Given the description of an element on the screen output the (x, y) to click on. 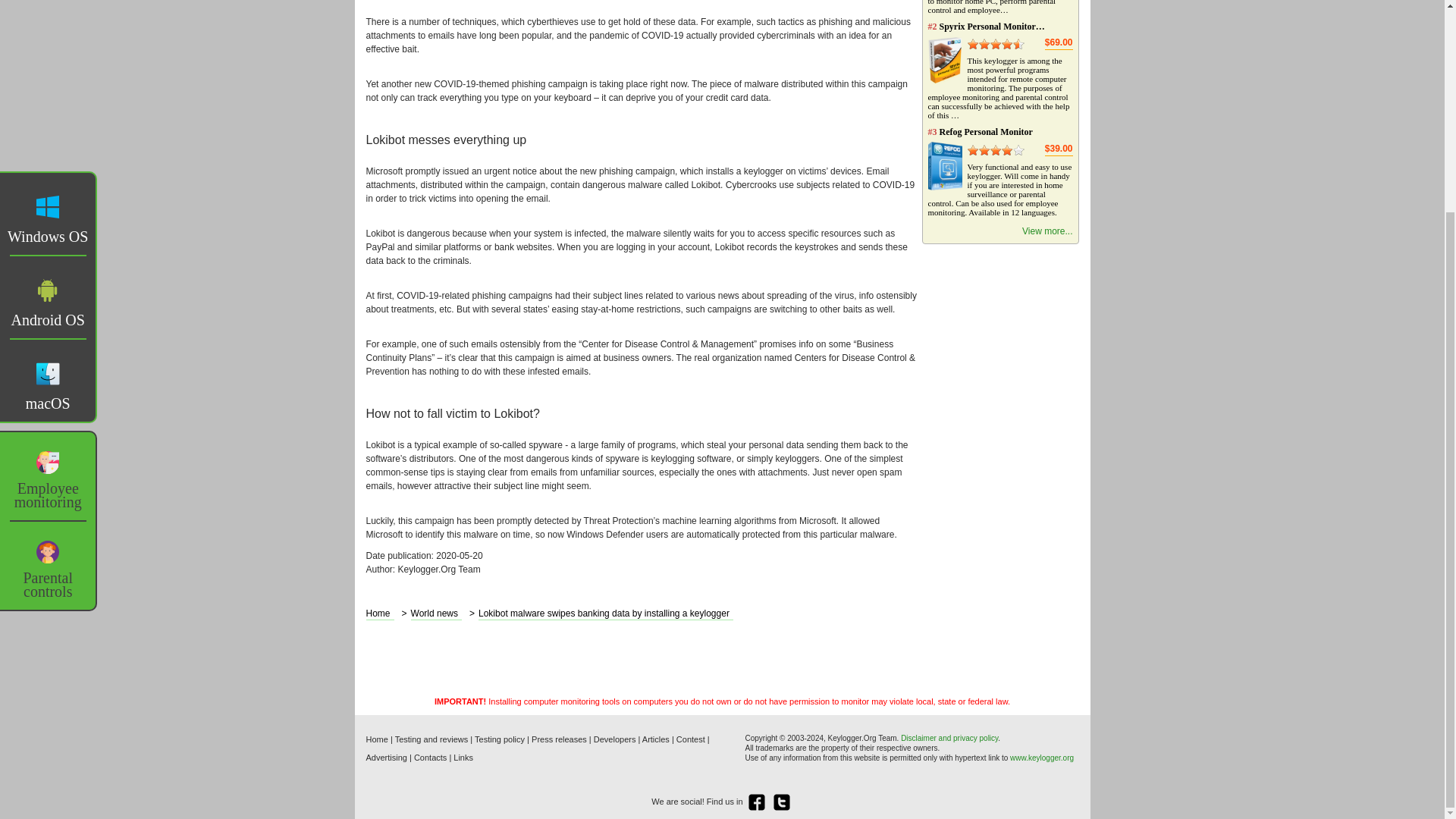
Testing policy (499, 739)
Articles (655, 739)
Links (462, 757)
Developers (615, 739)
Contest (690, 739)
Home (376, 739)
Disclaimer and privacy policy (949, 737)
Contacts (429, 757)
View more... (1046, 231)
World news (435, 613)
www.keylogger.org (1042, 757)
Home (379, 613)
Press releases (558, 739)
